Given the description of an element on the screen output the (x, y) to click on. 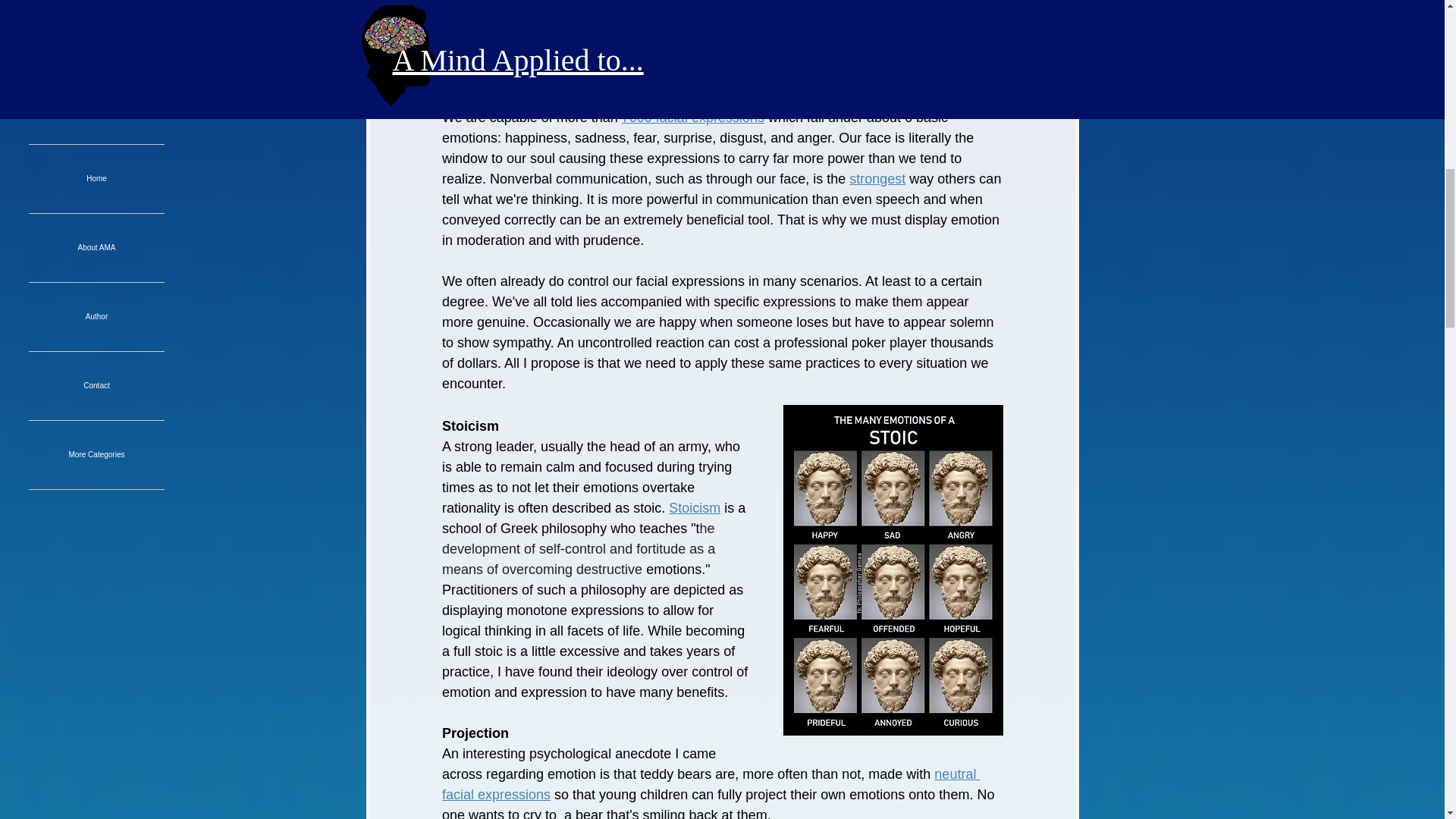
Many emotions are destructive (534, 14)
Stoicism (694, 507)
neutral facial expressions (709, 784)
7000 facial expressions (691, 117)
strongest (876, 178)
